Given the description of an element on the screen output the (x, y) to click on. 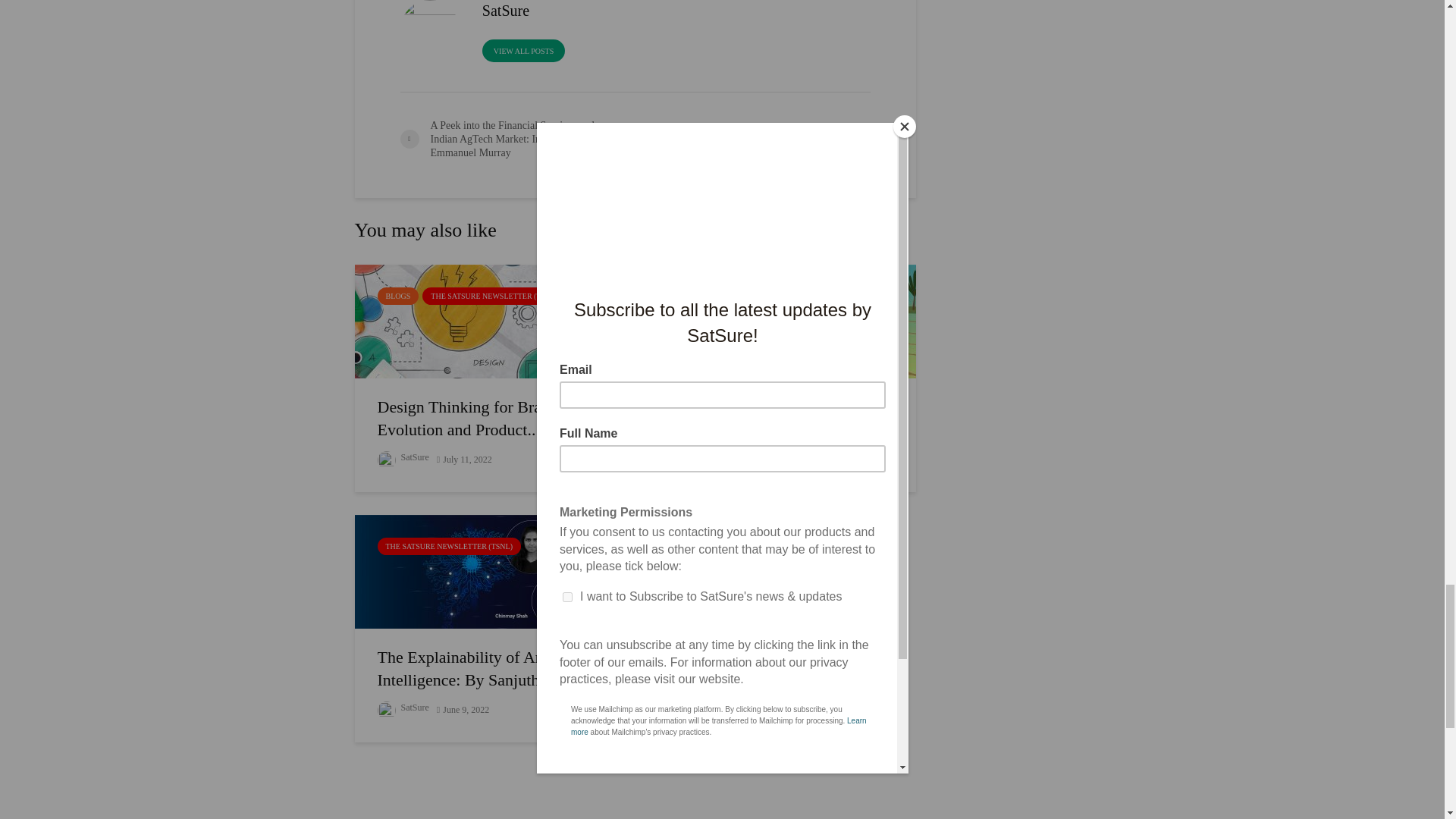
Design Thinking for Brand Evolution and Product Marketing (489, 318)
